Given the description of an element on the screen output the (x, y) to click on. 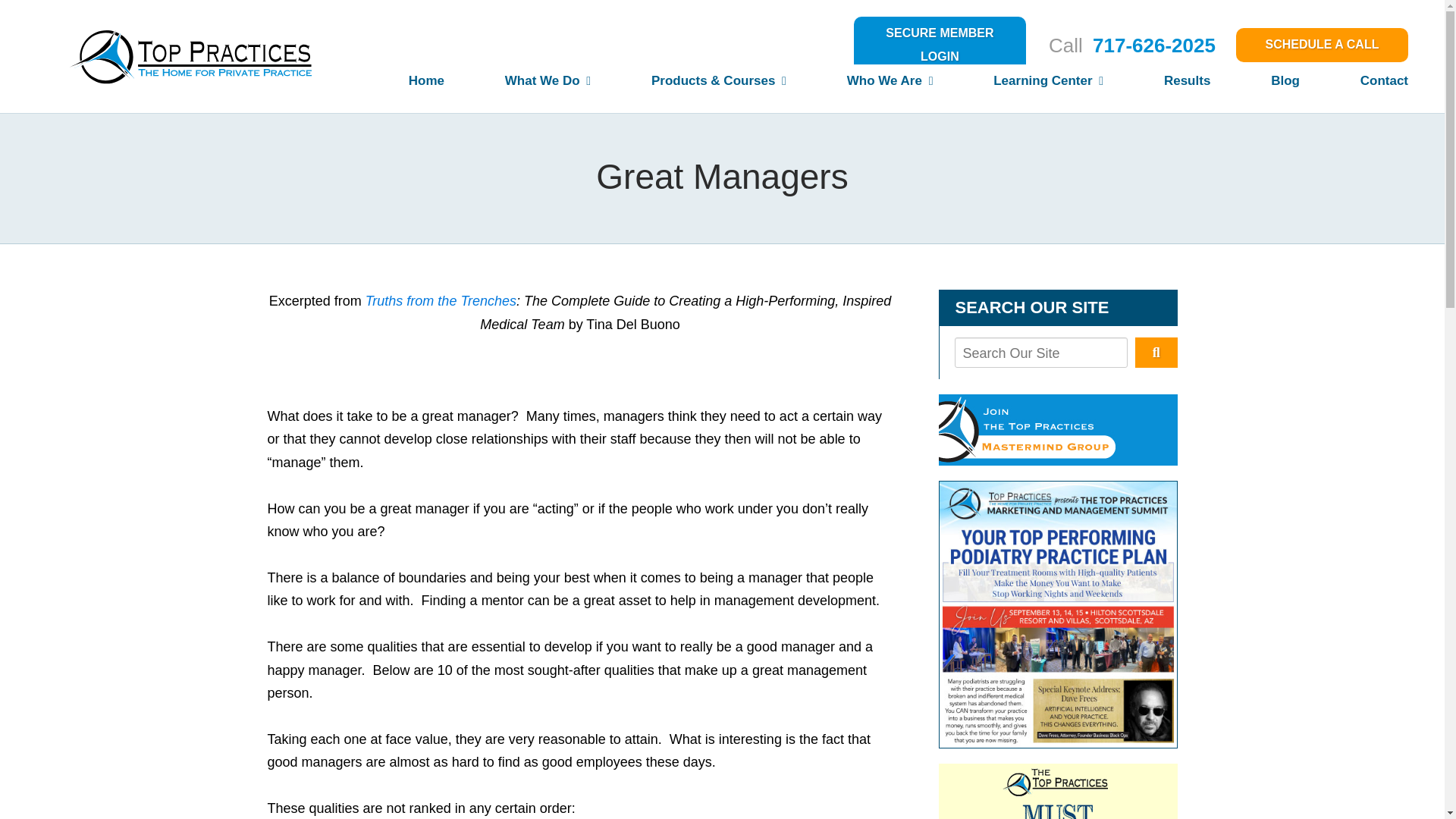
SECURE MEMBER LOGIN (939, 44)
Learning Center (1018, 86)
Home (395, 86)
SCHEDULE A CALL (1321, 44)
Search (1156, 352)
What We Do (517, 86)
Who We Are (859, 86)
